Given the description of an element on the screen output the (x, y) to click on. 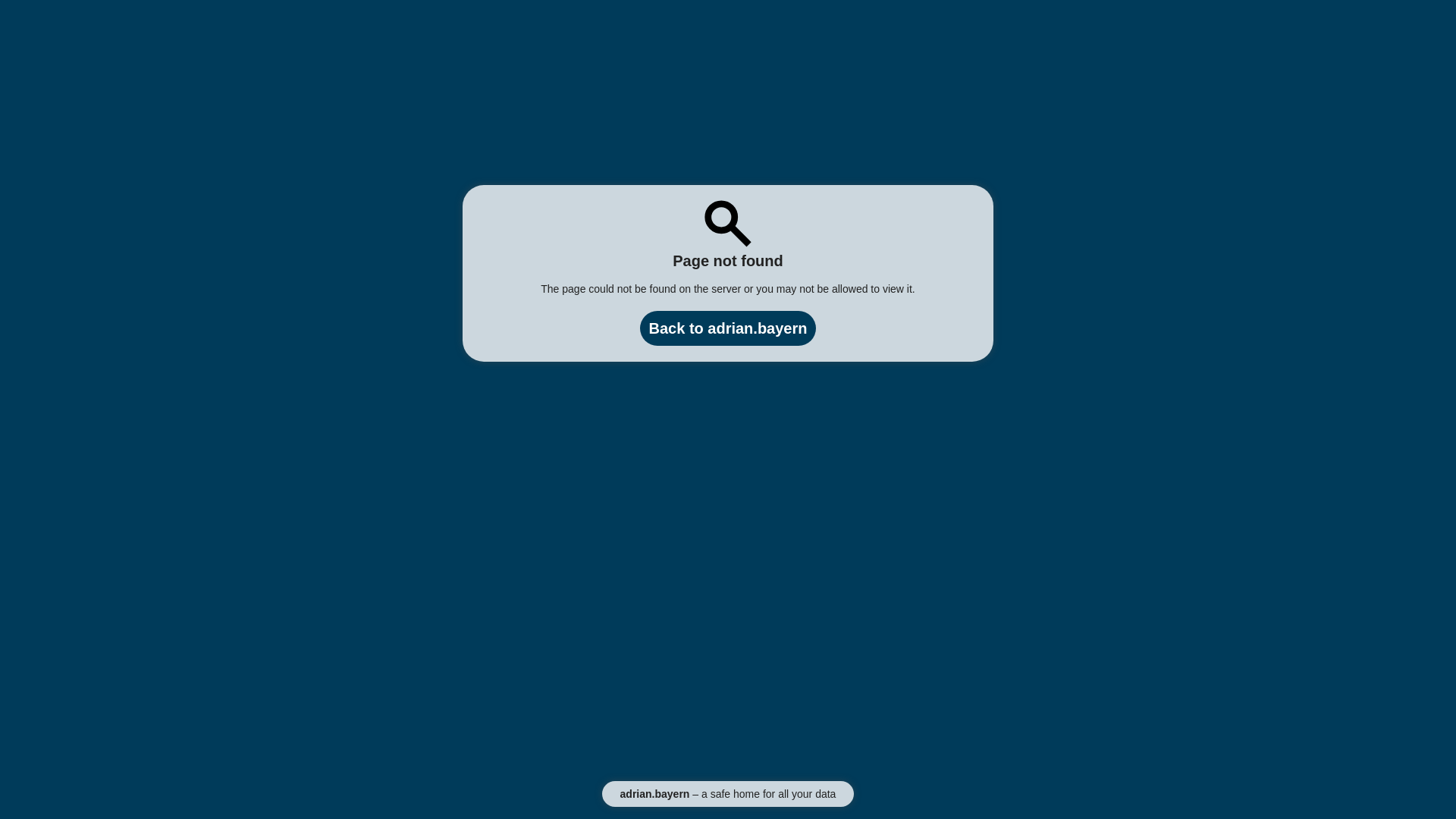
adrian.bayern Element type: text (655, 793)
Back to adrian.bayern Element type: text (728, 327)
